Given the description of an element on the screen output the (x, y) to click on. 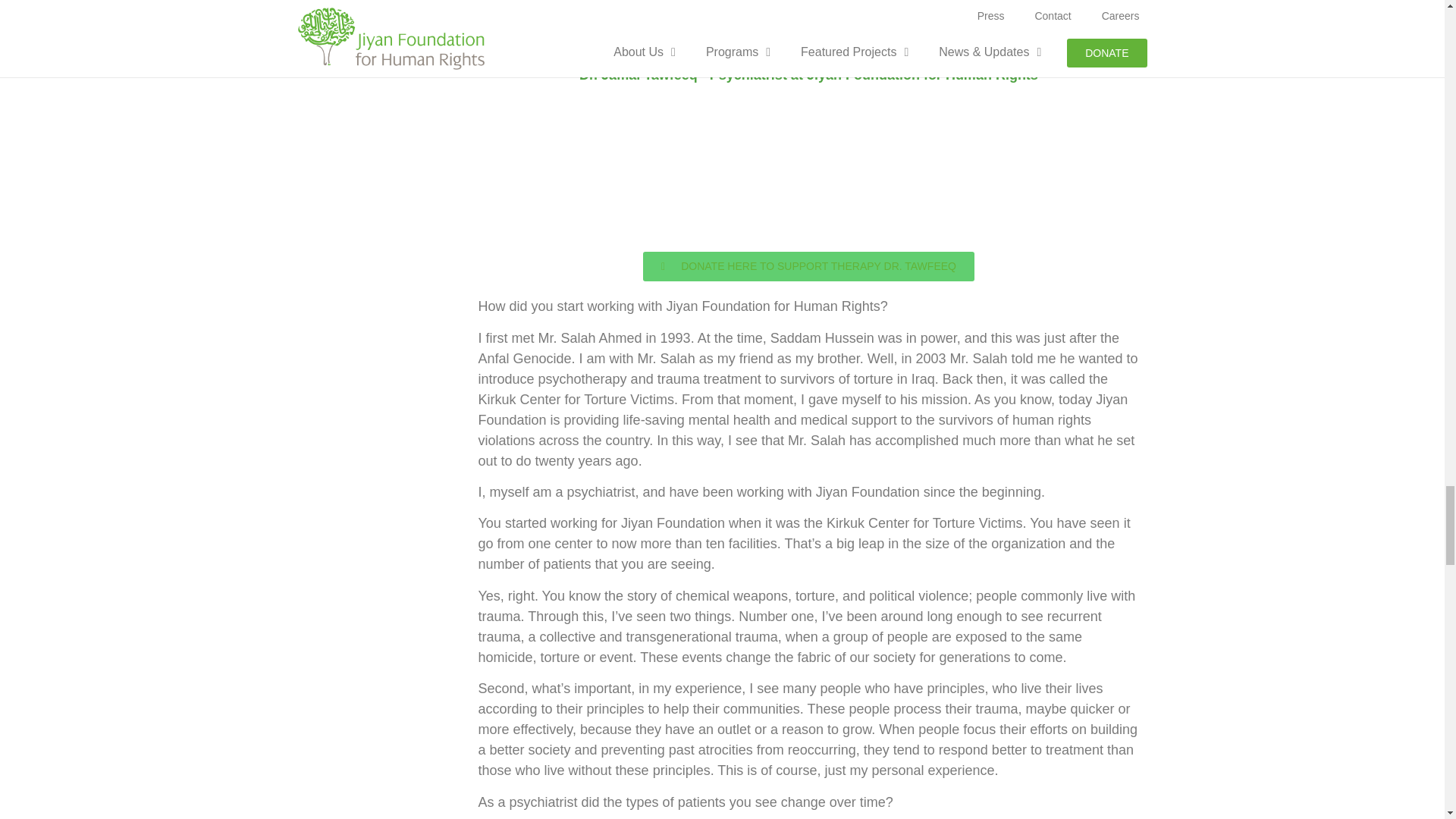
Page 14 (807, 805)
